Given the description of an element on the screen output the (x, y) to click on. 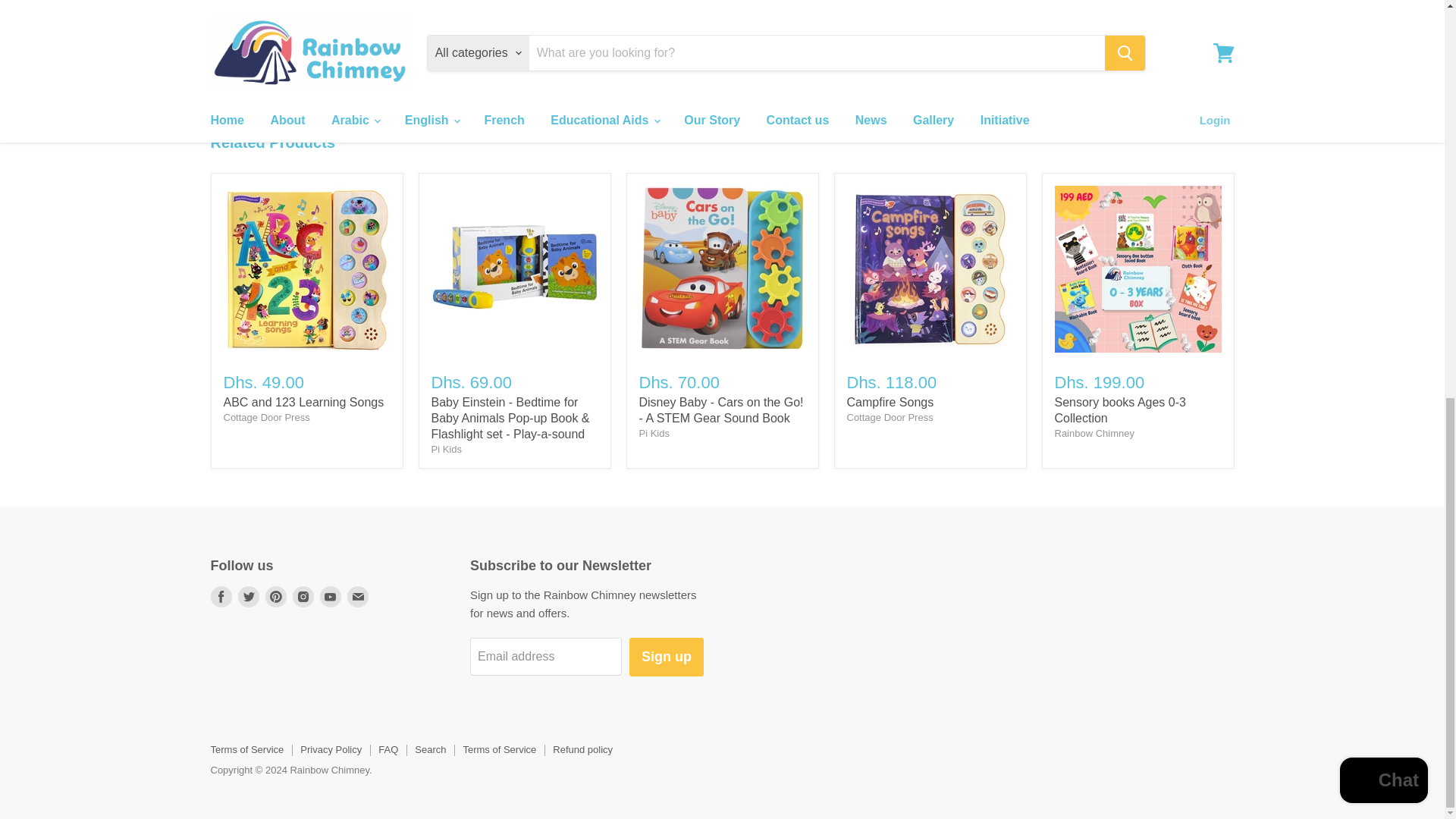
E-mail (357, 596)
Shopify online store chat (1383, 16)
Instagram (303, 596)
Pi Kids (653, 432)
Cottage Door Press (265, 417)
Pinterest (275, 596)
Pi Kids (445, 449)
Rainbow Chimney (1094, 432)
Facebook (221, 596)
Youtube (330, 596)
